Given the description of an element on the screen output the (x, y) to click on. 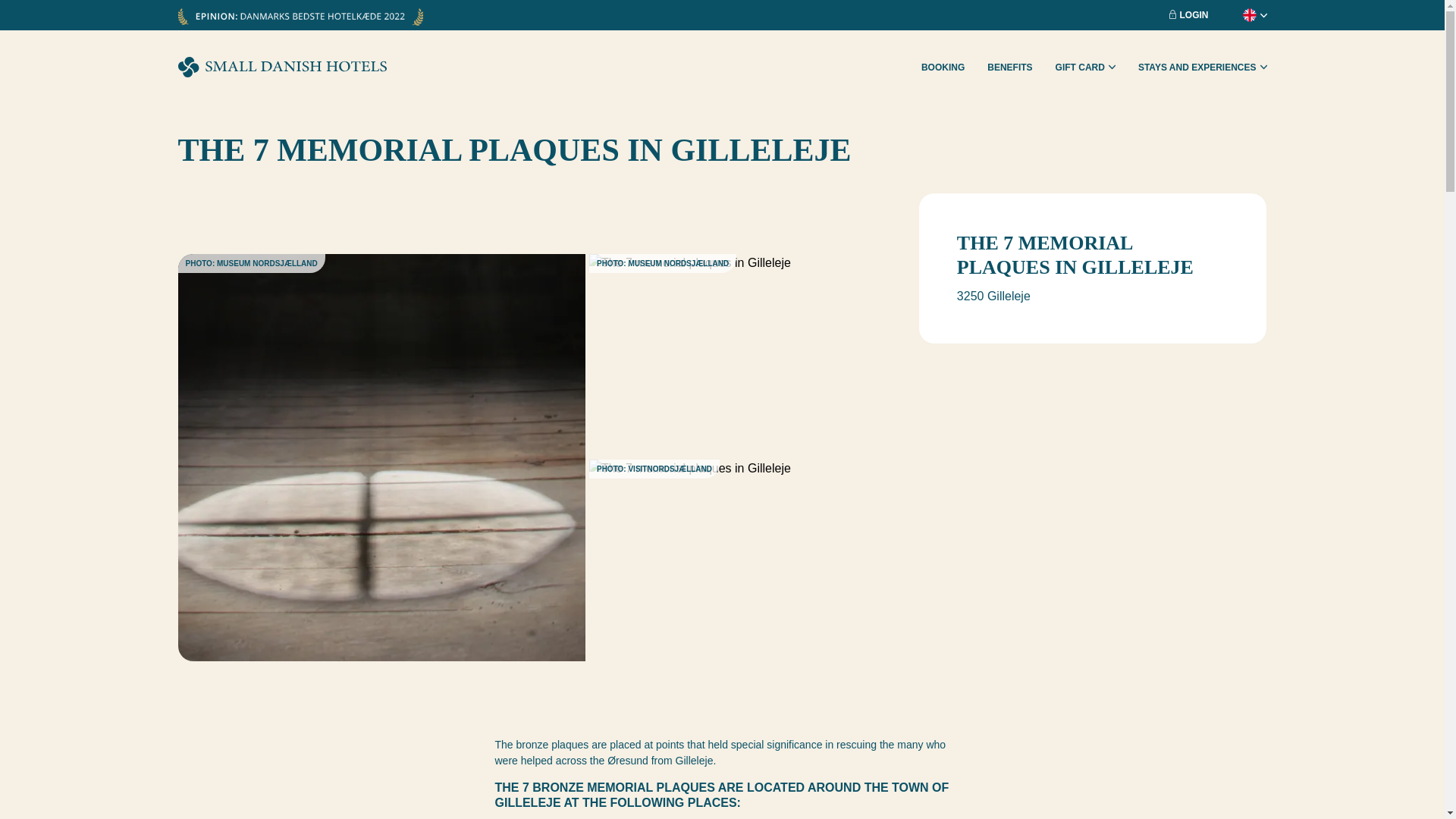
BOOKING (942, 67)
Small Danish Hotels (281, 66)
STAYS AND EXPERIENCES (1202, 67)
LOGIN (1188, 15)
DANISH (1223, 29)
GIFT CARD (1084, 67)
BENEFITS (1009, 67)
Current language: English (1243, 15)
